Given the description of an element on the screen output the (x, y) to click on. 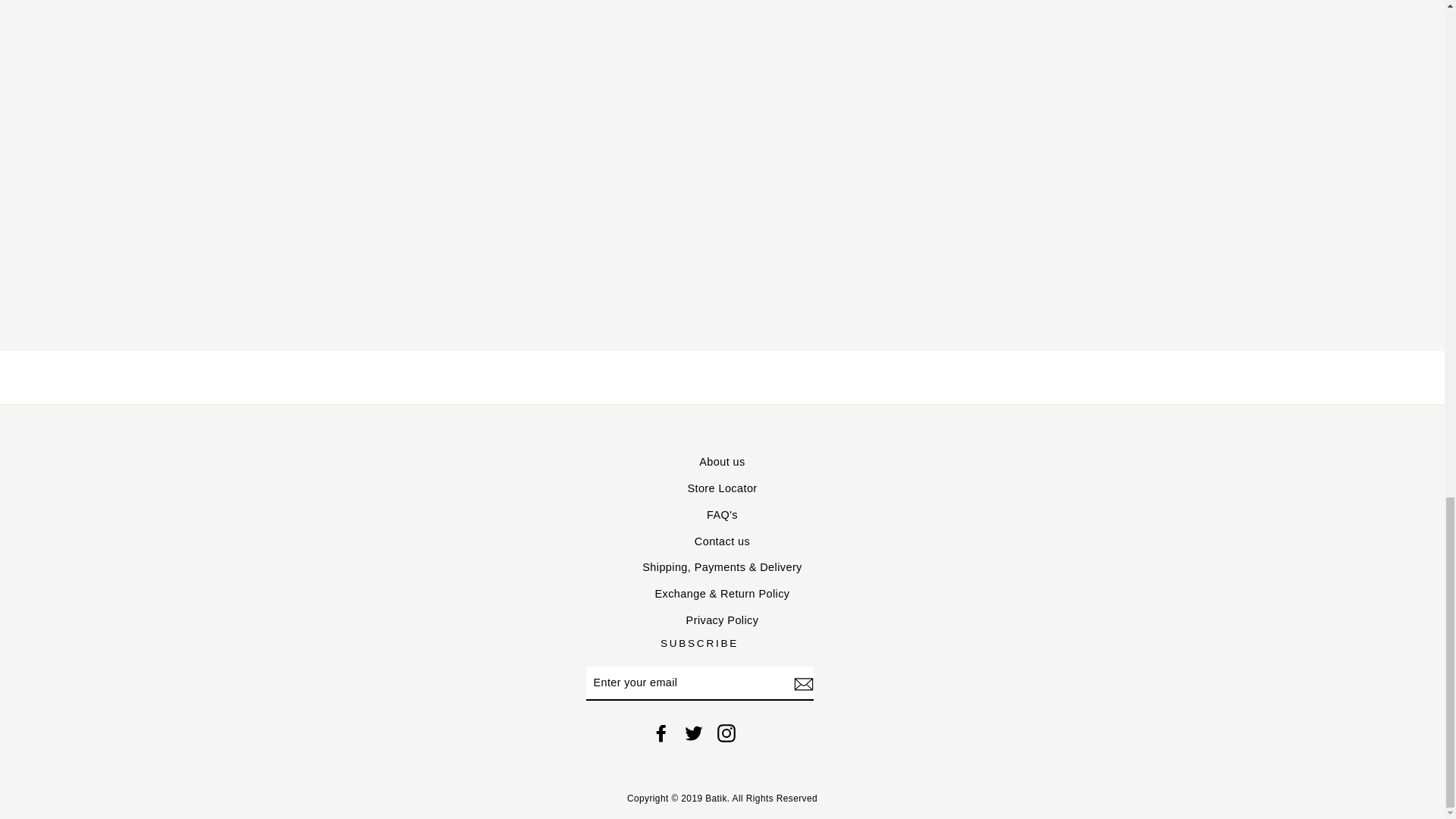
BATIK on Instagram (726, 732)
BATIK on Facebook (660, 732)
BATIK on Twitter (693, 732)
